Given the description of an element on the screen output the (x, y) to click on. 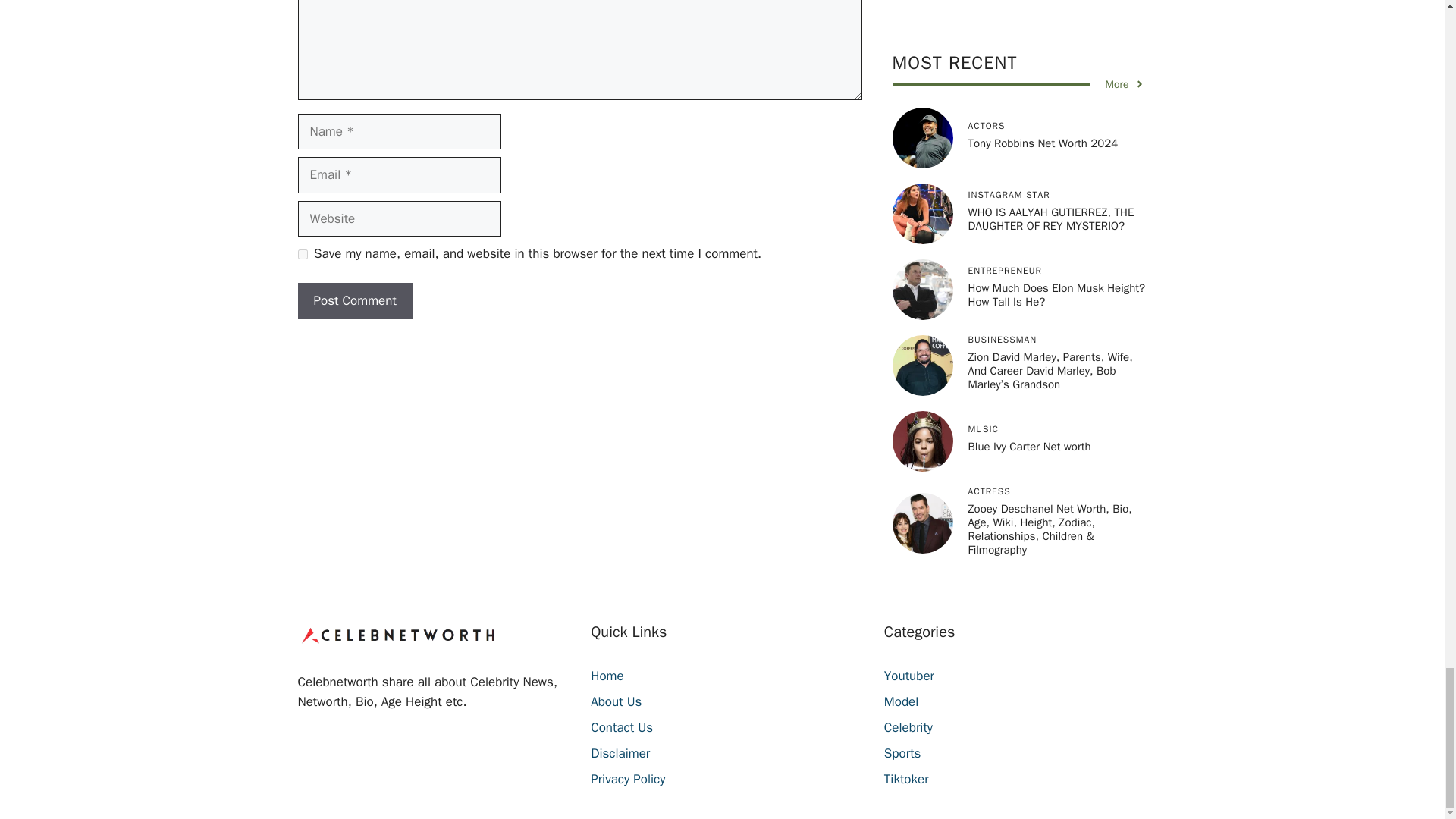
Post Comment (354, 300)
Post Comment (354, 300)
yes (302, 254)
